Given the description of an element on the screen output the (x, y) to click on. 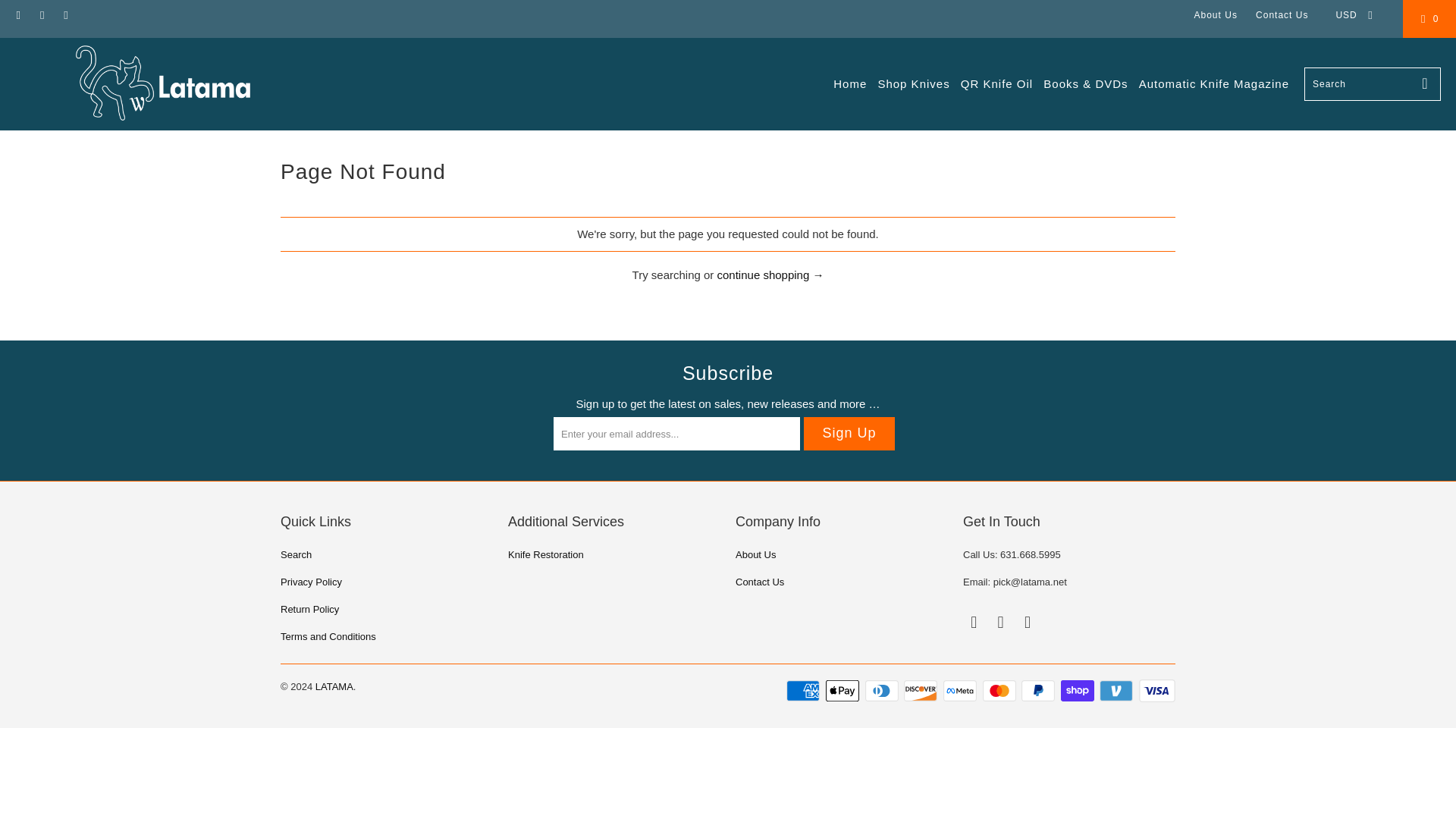
American Express (804, 690)
Home (849, 84)
USD (1349, 15)
Venmo (1117, 690)
Email LATAMA (65, 14)
LATAMA on Instagram (1000, 622)
Visa (1156, 690)
Discover (922, 690)
Shop Pay (1079, 690)
Automatic Knife Magazine (1213, 84)
